Given the description of an element on the screen output the (x, y) to click on. 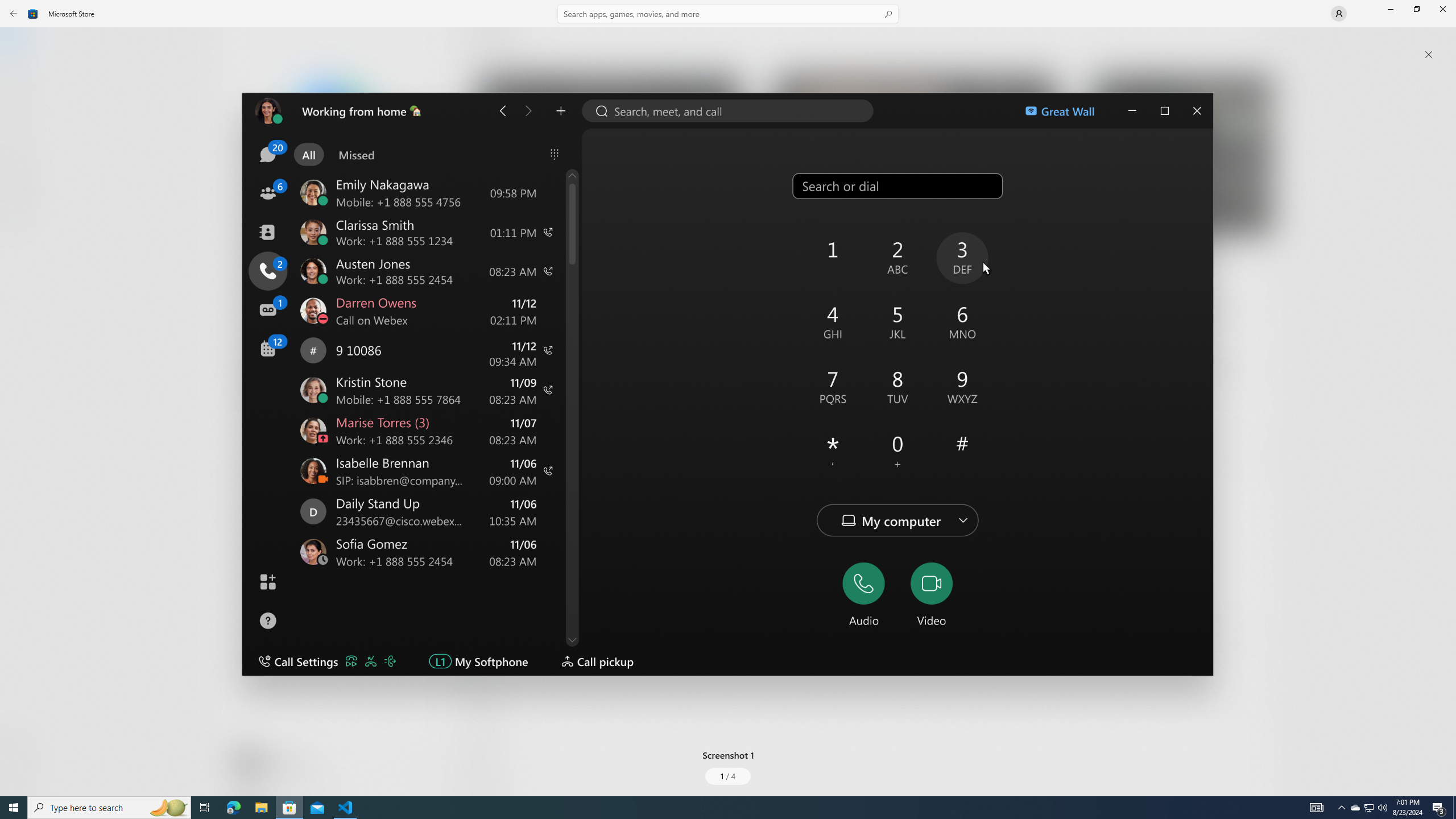
Search (727, 13)
Show all ratings and reviews (477, 660)
Screenshot 2 (915, 158)
Share (424, 769)
